Given the description of an element on the screen output the (x, y) to click on. 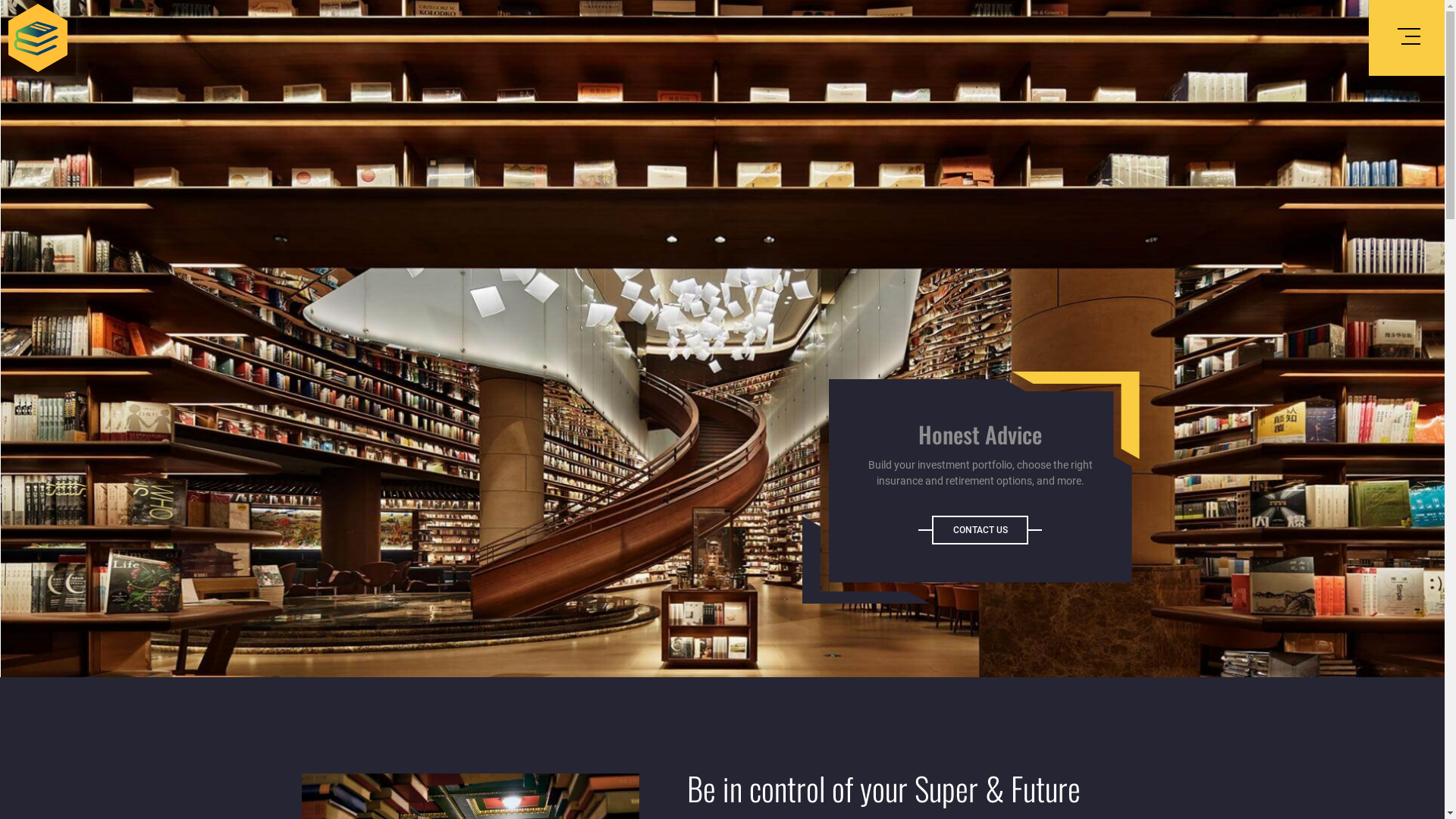
Menu Bar Element type: hover (1405, 35)
CONTACT US Element type: text (979, 529)
